Given the description of an element on the screen output the (x, y) to click on. 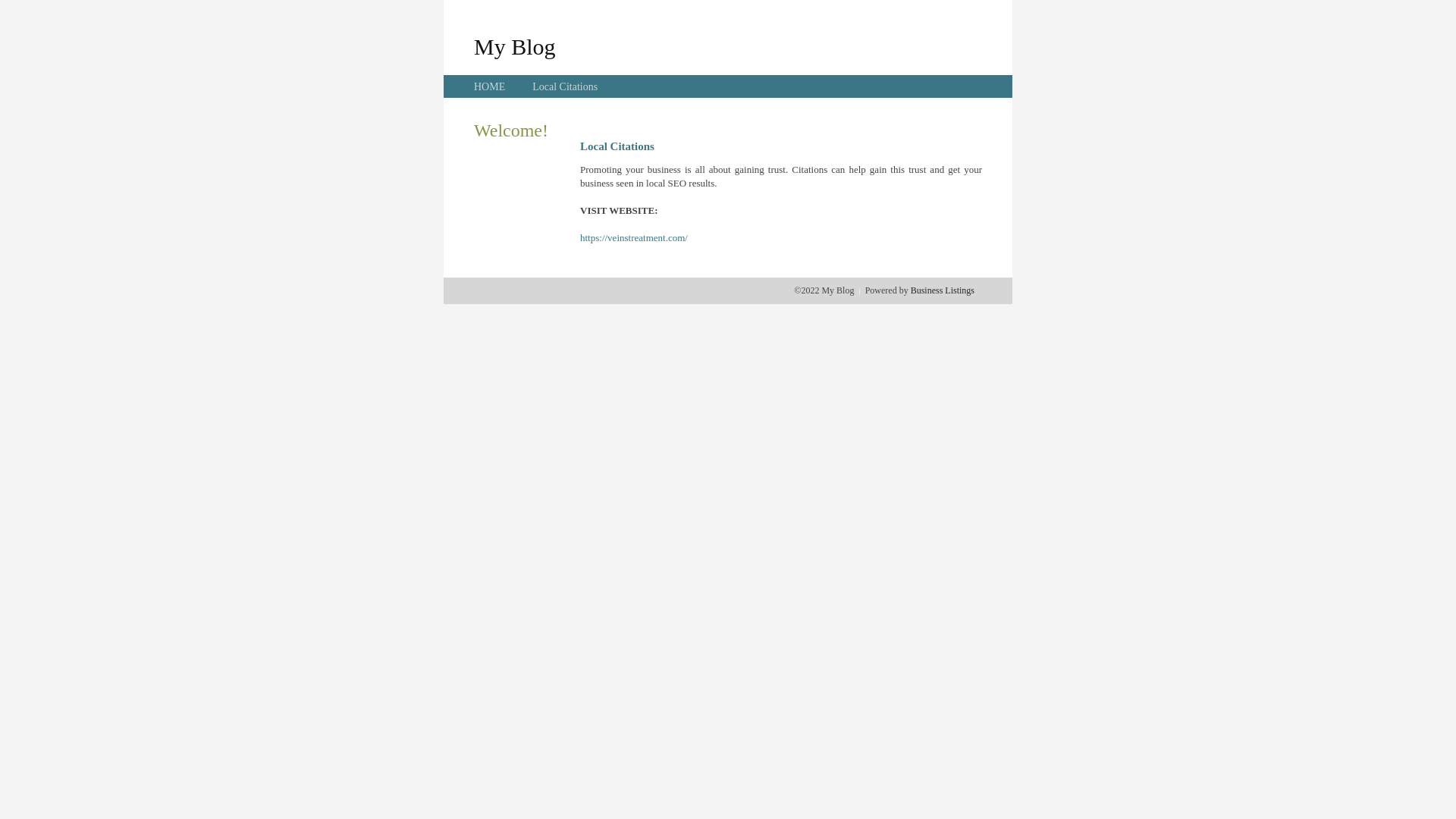
My Blog Element type: text (514, 46)
HOME Element type: text (489, 86)
Local Citations Element type: text (564, 86)
Business Listings Element type: text (942, 290)
https://veinstreatment.com/ Element type: text (633, 237)
